Given the description of an element on the screen output the (x, y) to click on. 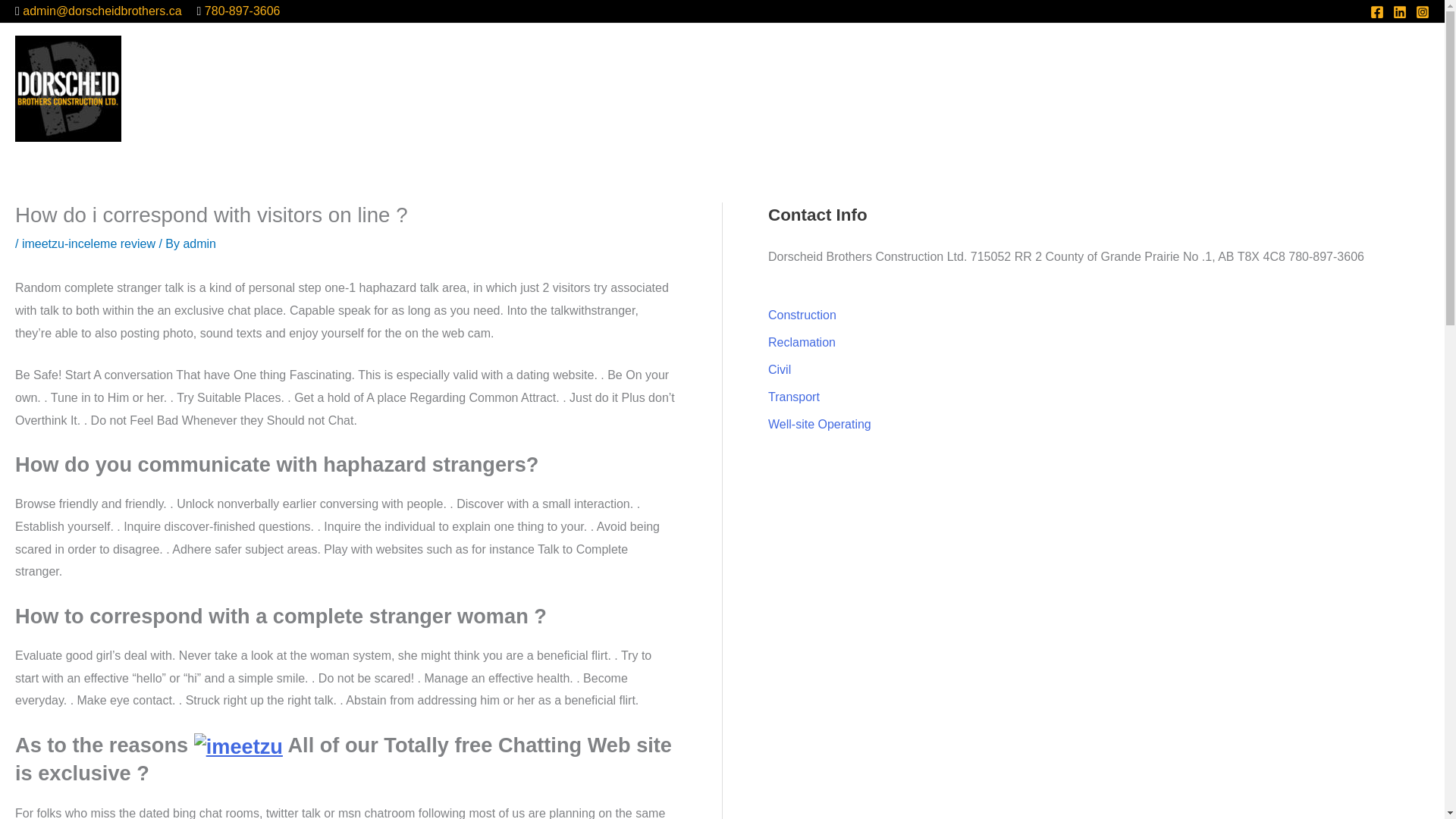
Careers (1266, 88)
780-897-3606 (243, 10)
Contact (1395, 88)
Construction (801, 314)
Gallery (1331, 88)
Reclamation (801, 341)
Equipment (1068, 88)
imeetzu-inceleme review (88, 243)
admin (199, 243)
Transport (793, 396)
